Given the description of an element on the screen output the (x, y) to click on. 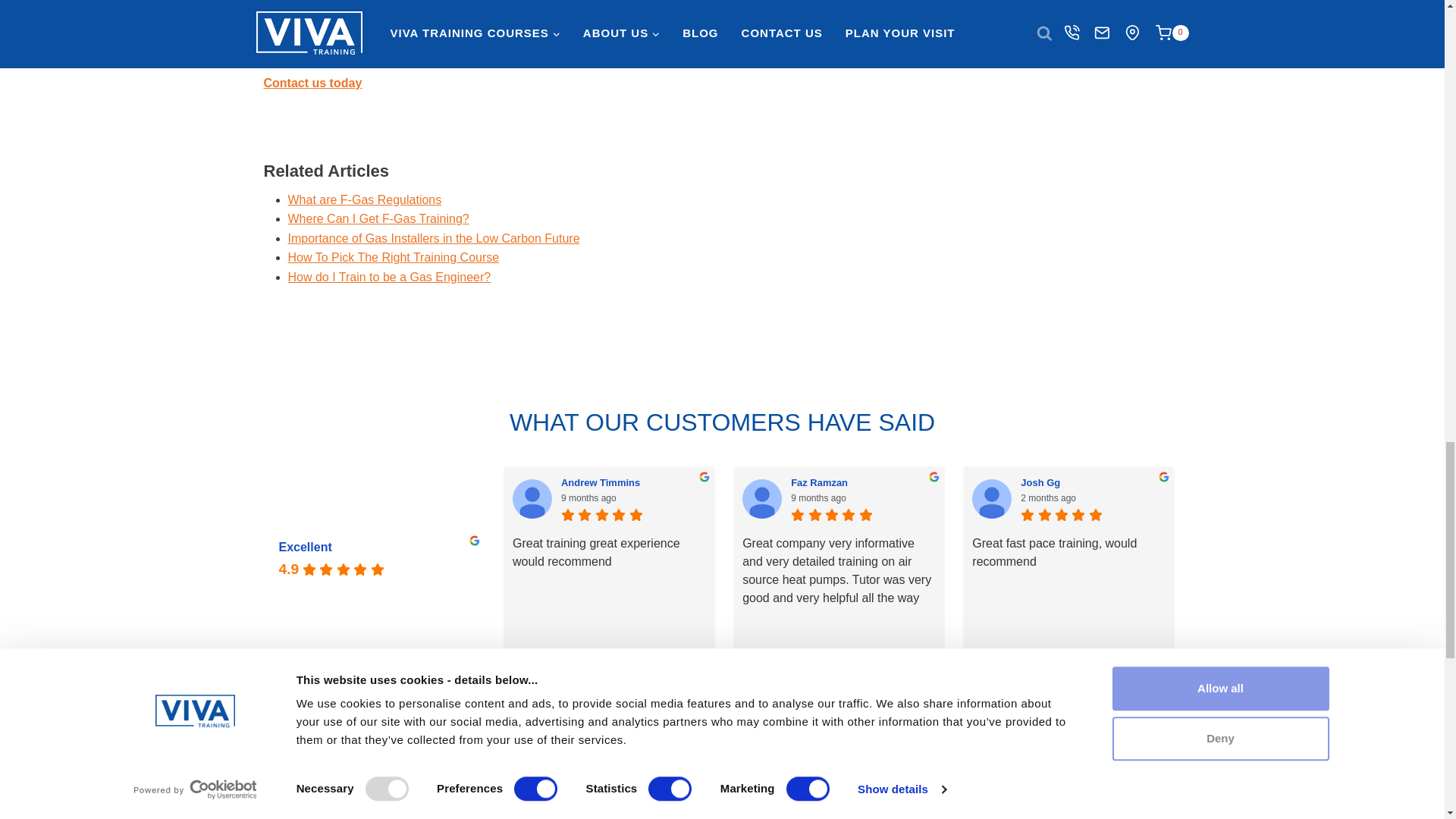
Great fast pace training, would recommend (1069, 588)
Andrew Timmins (531, 498)
Great training great experience would recommend (609, 588)
